Given the description of an element on the screen output the (x, y) to click on. 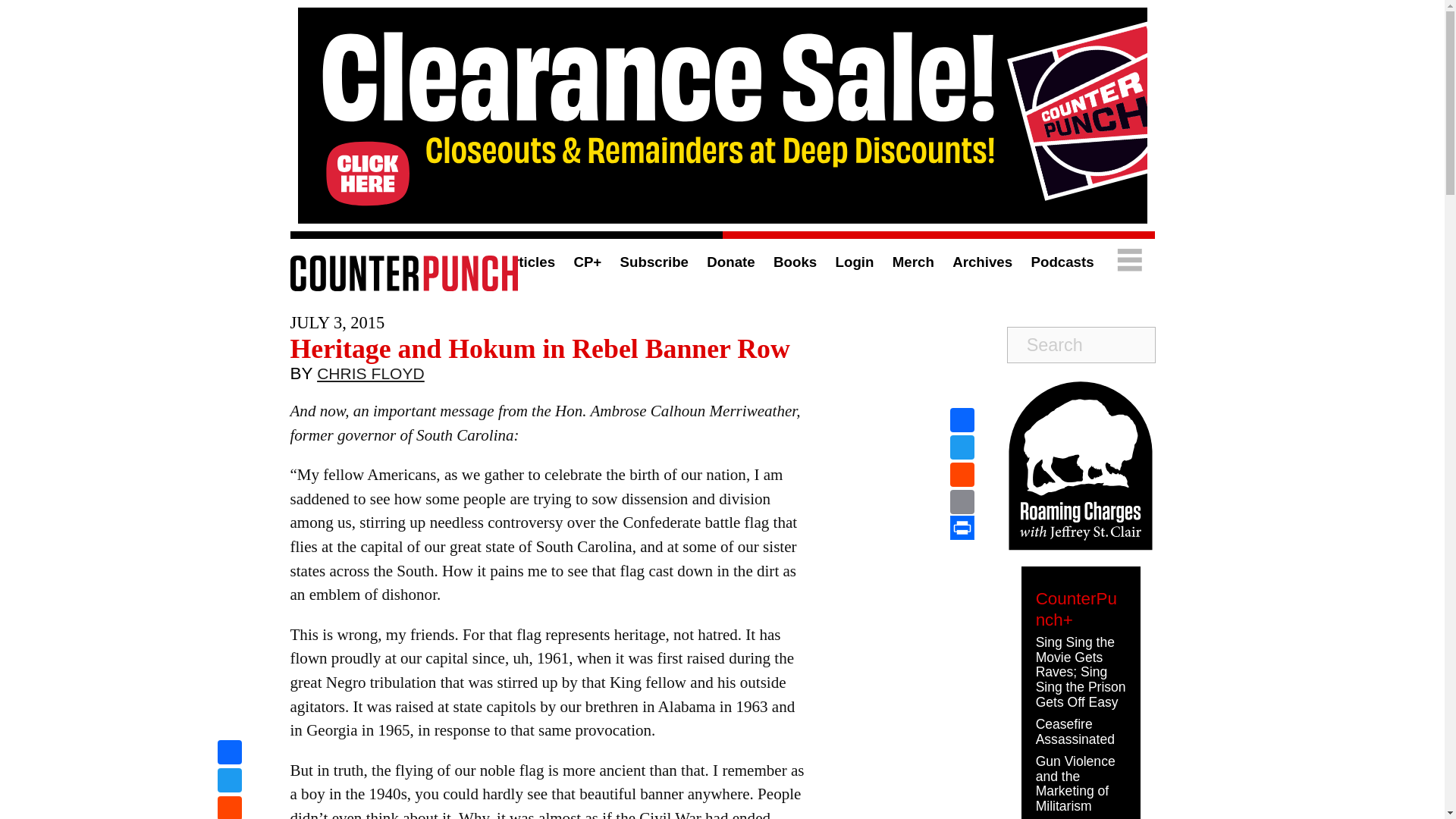
Print This Post (962, 527)
Reddit (229, 807)
Facebook (962, 420)
2015-07-03 (336, 322)
Ceasefire Assassinated (1075, 731)
Facebook (229, 754)
Gun Violence and the Marketing of Militarism (1075, 783)
Twitter (229, 782)
Facebook (229, 754)
